Given the description of an element on the screen output the (x, y) to click on. 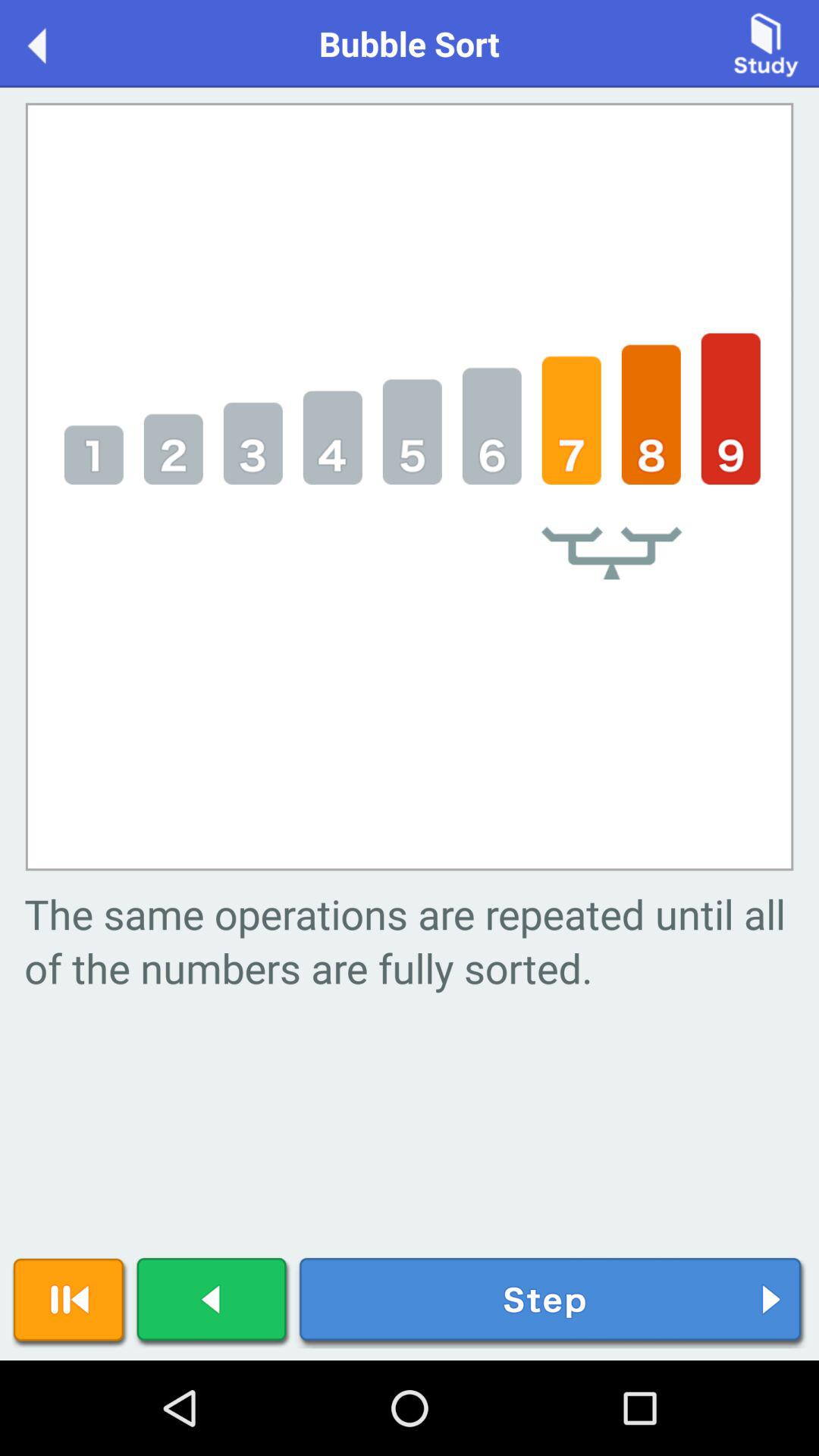
go back a step (213, 1302)
